Given the description of an element on the screen output the (x, y) to click on. 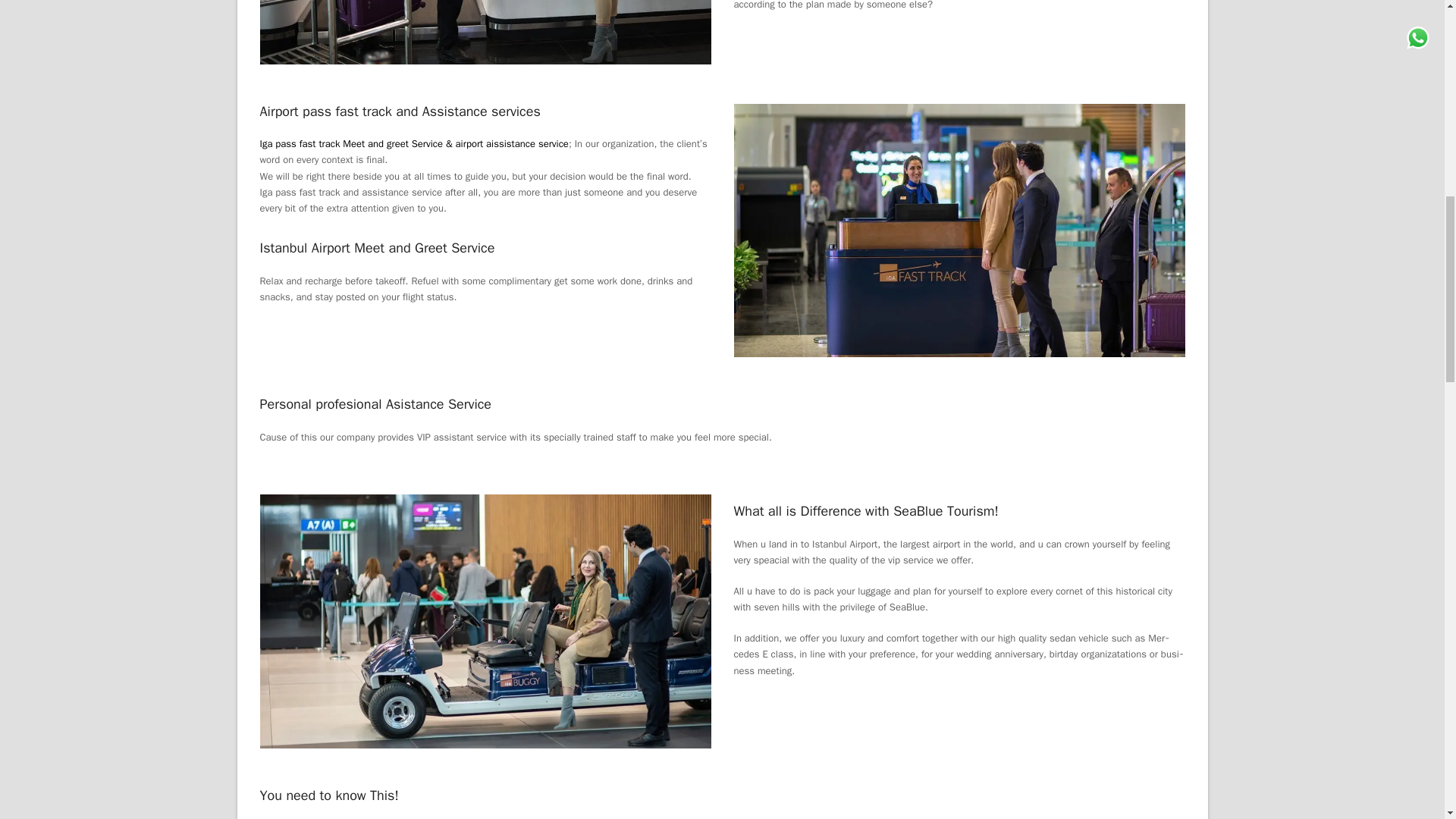
iga-meet-greet-asistance-service (959, 230)
iga-meet-greet-profesional-asistance-service (484, 32)
iga-meet-greet-asistance (484, 621)
